Given the description of an element on the screen output the (x, y) to click on. 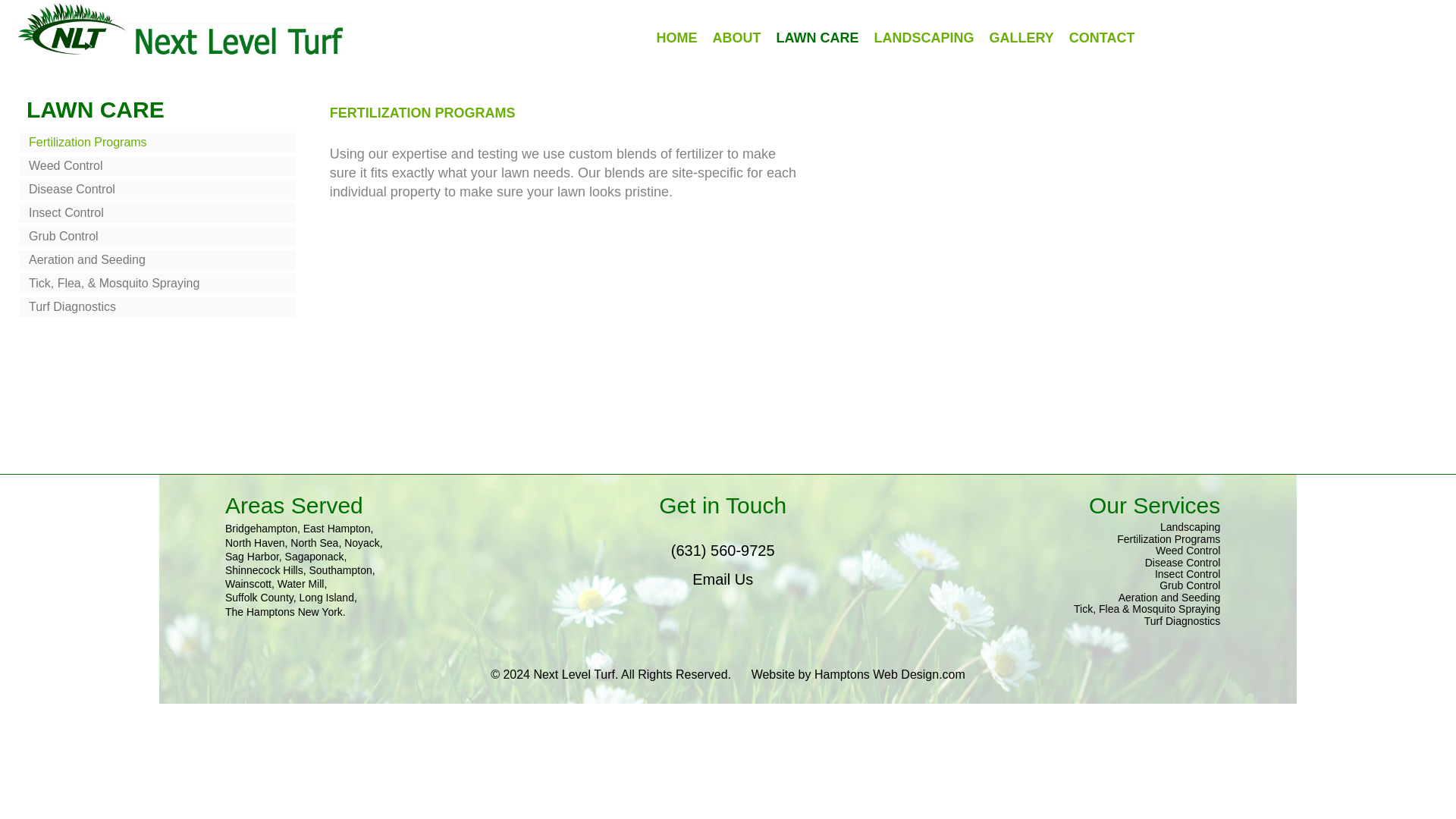
Weed Control (156, 166)
GALLERY (1021, 38)
Grub Control (156, 236)
Turf Diagnostics (156, 306)
LAWN CARE (816, 38)
Hamptons Web Design.com (889, 674)
Insect Control (156, 212)
LANDSCAPING (922, 38)
ABOUT (735, 38)
Website by  (782, 674)
Email Us (722, 579)
Disease Control (156, 189)
Aeration and Seeding (156, 260)
HOME (676, 38)
cropped-Header1.jpg (182, 28)
